Given the description of an element on the screen output the (x, y) to click on. 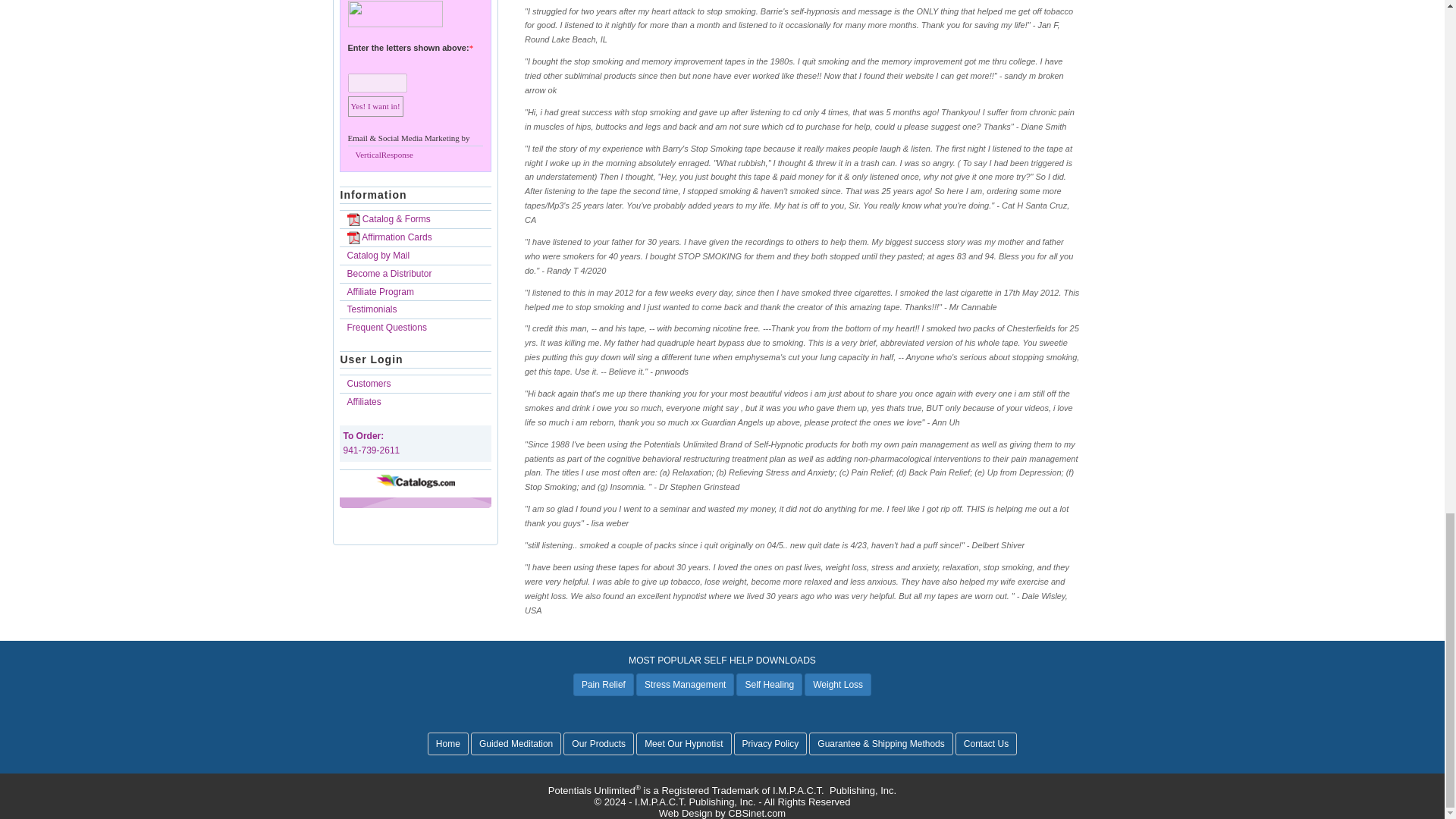
Yes! I want in! (375, 106)
